Given the description of an element on the screen output the (x, y) to click on. 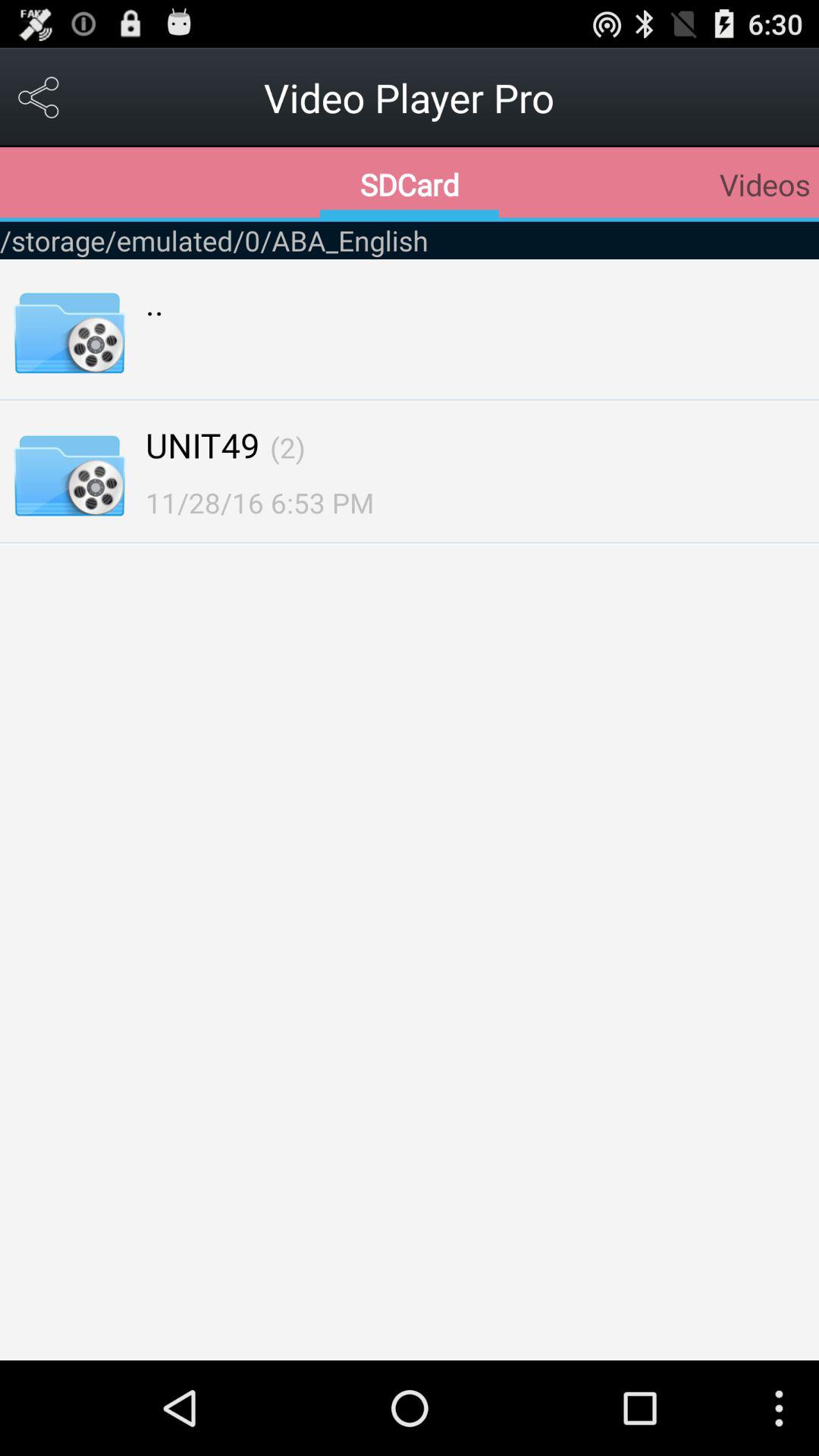
flip to .. item (154, 302)
